Given the description of an element on the screen output the (x, y) to click on. 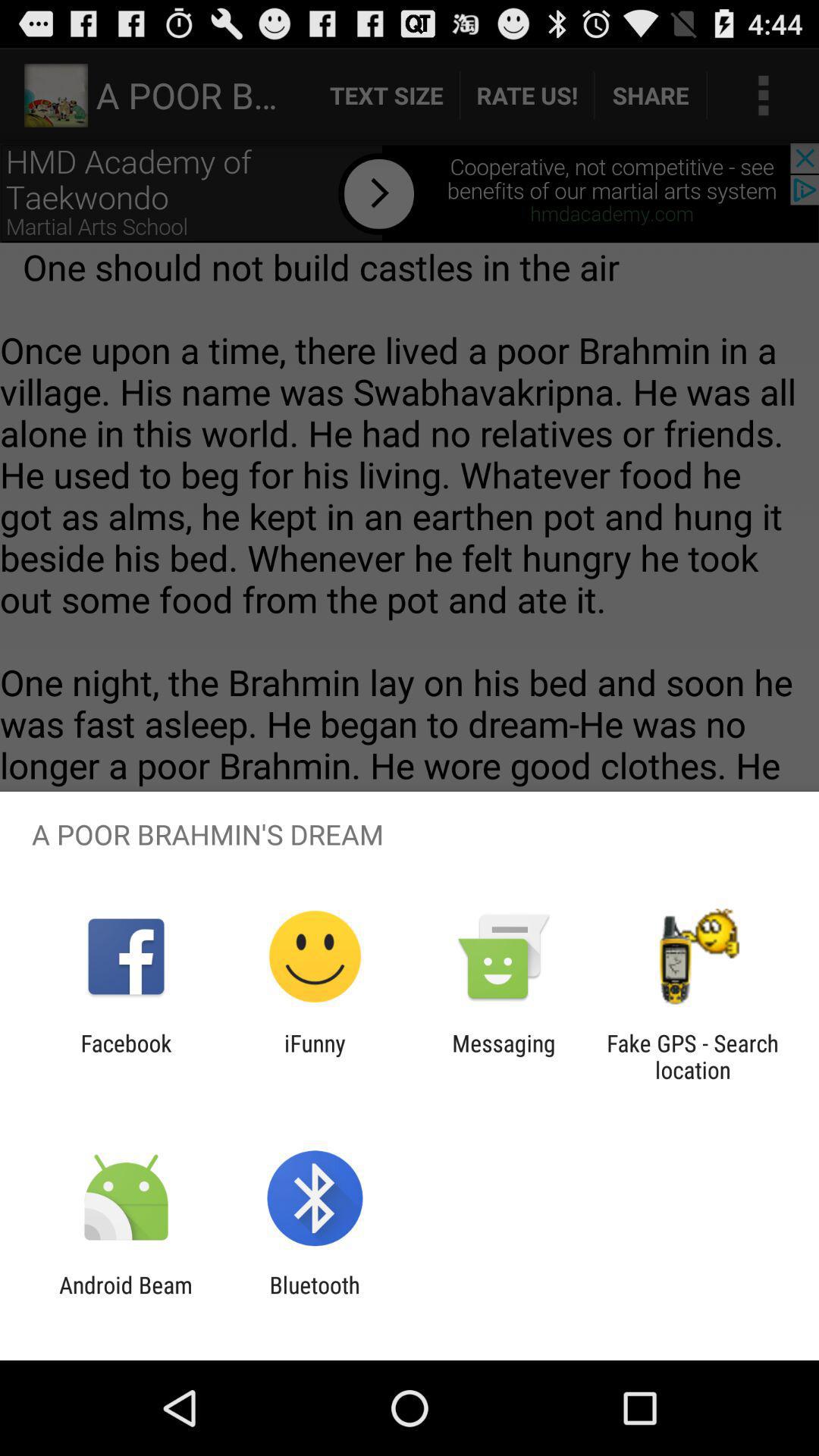
turn off app to the left of bluetooth icon (125, 1298)
